Given the description of an element on the screen output the (x, y) to click on. 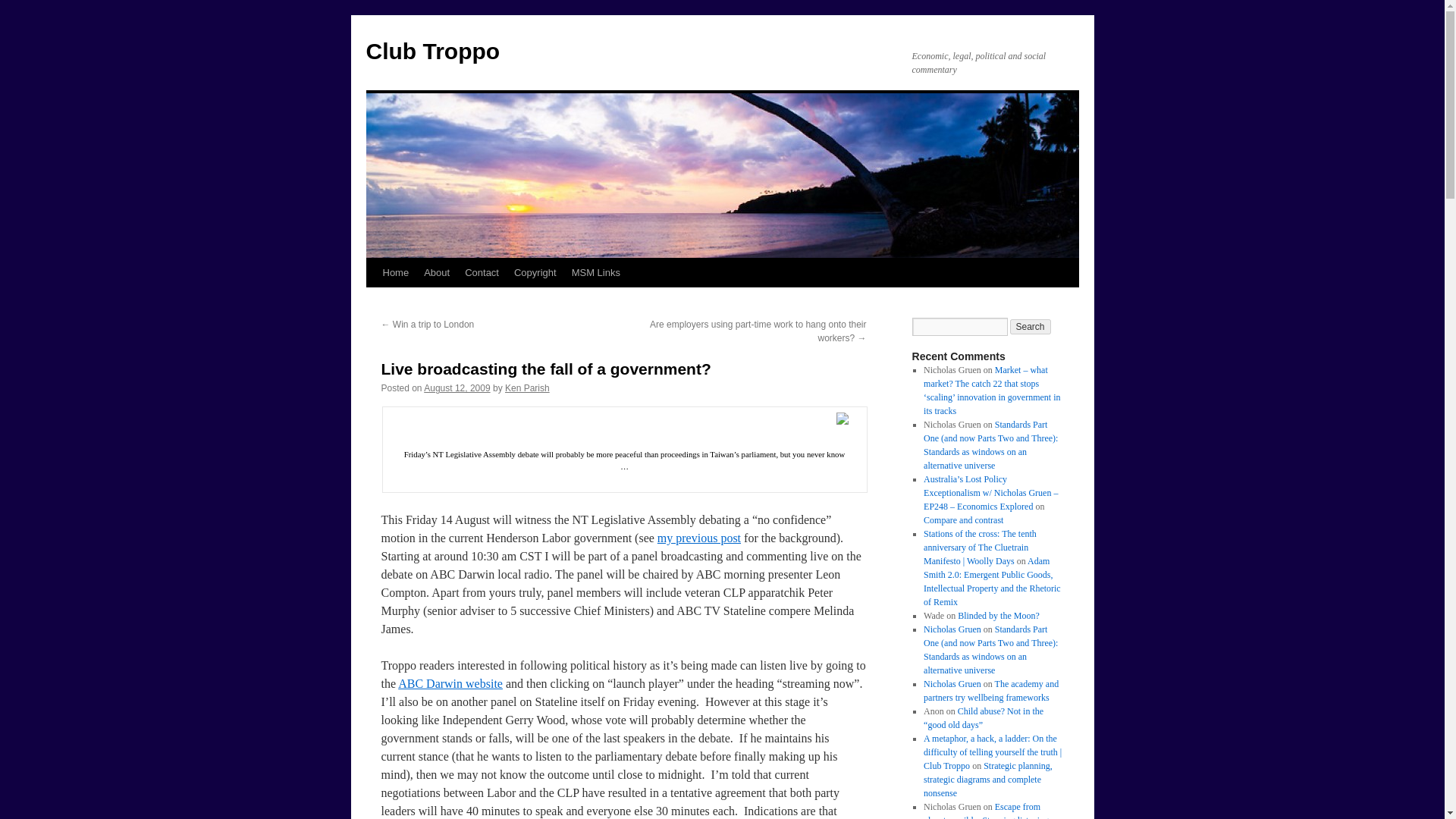
Club Troppo (432, 50)
12:13 pm (456, 388)
Home (395, 272)
MSM Links (595, 272)
Copyright (535, 272)
Contact (481, 272)
Search (1030, 326)
Ken Parish (527, 388)
View all posts by Ken Parish (527, 388)
my previous post (699, 537)
About (436, 272)
August 12, 2009 (456, 388)
ABC Darwin website (449, 683)
Club Troppo (432, 50)
